Given the description of an element on the screen output the (x, y) to click on. 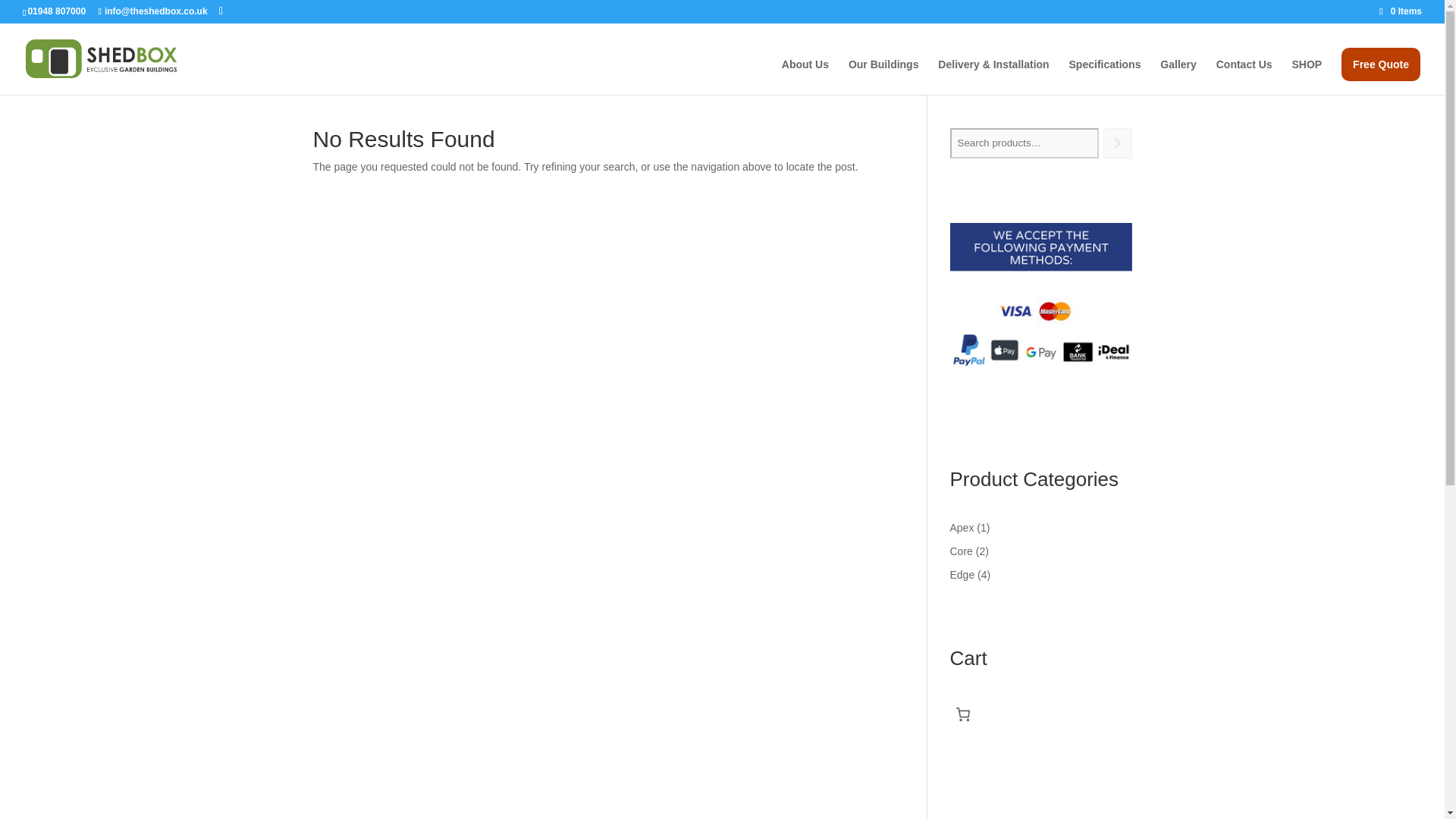
Edge (961, 574)
0 Items (1400, 10)
Specifications (1104, 76)
Our Buildings (883, 76)
Free Quote (1380, 64)
Core (960, 551)
About Us (804, 76)
Contact Us (1243, 76)
Gallery (1177, 76)
Apex (961, 527)
